Given the description of an element on the screen output the (x, y) to click on. 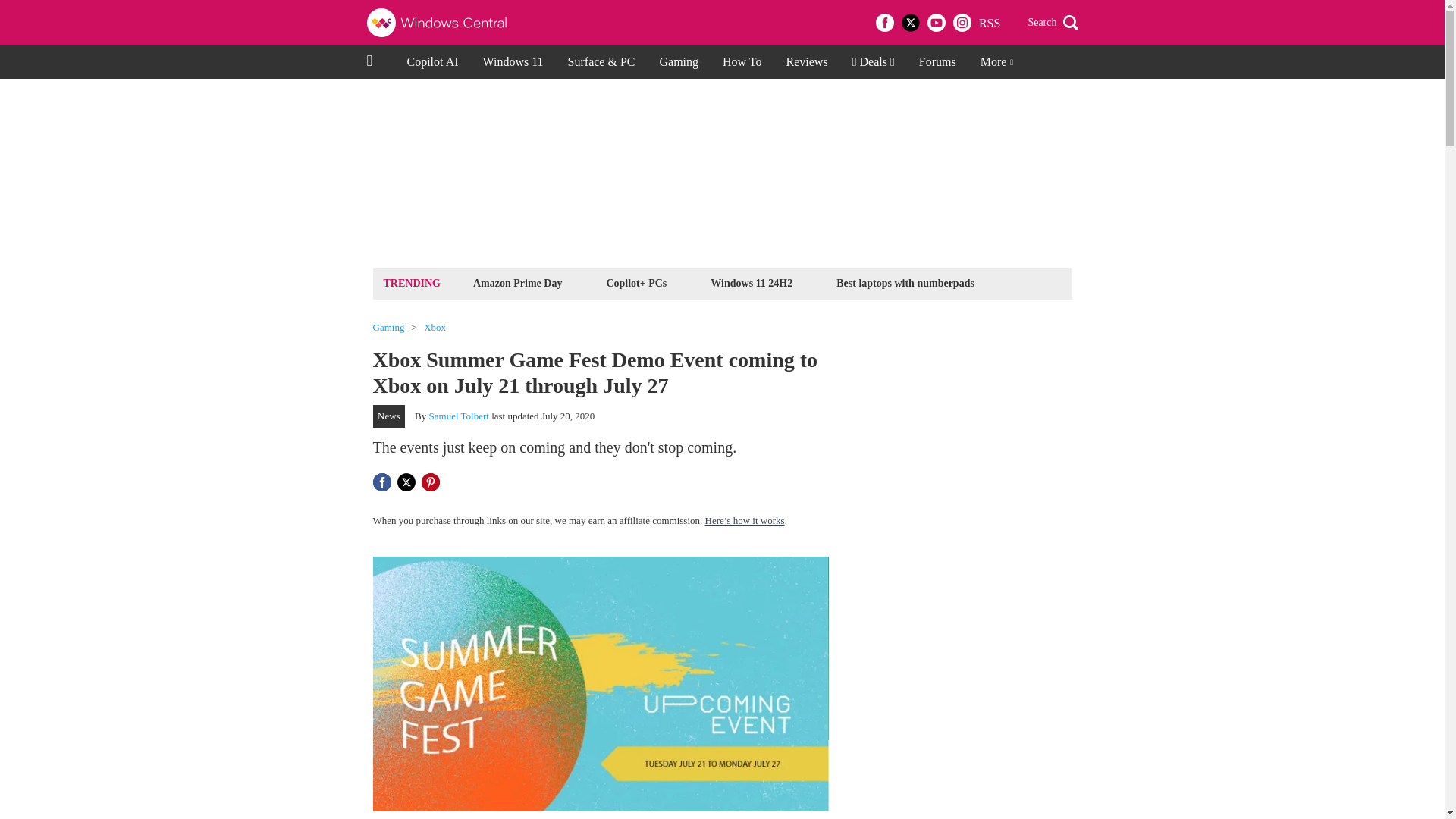
Best laptops with numberpads (905, 282)
Reviews (807, 61)
Forums (937, 61)
Windows 11 (513, 61)
Copilot AI (432, 61)
Xbox (434, 327)
Gaming (388, 327)
How To (741, 61)
Amazon Prime Day (517, 282)
News (389, 415)
Gaming (678, 61)
Windows 11 24H2 (750, 282)
RSS (989, 22)
Samuel Tolbert (459, 415)
